Given the description of an element on the screen output the (x, y) to click on. 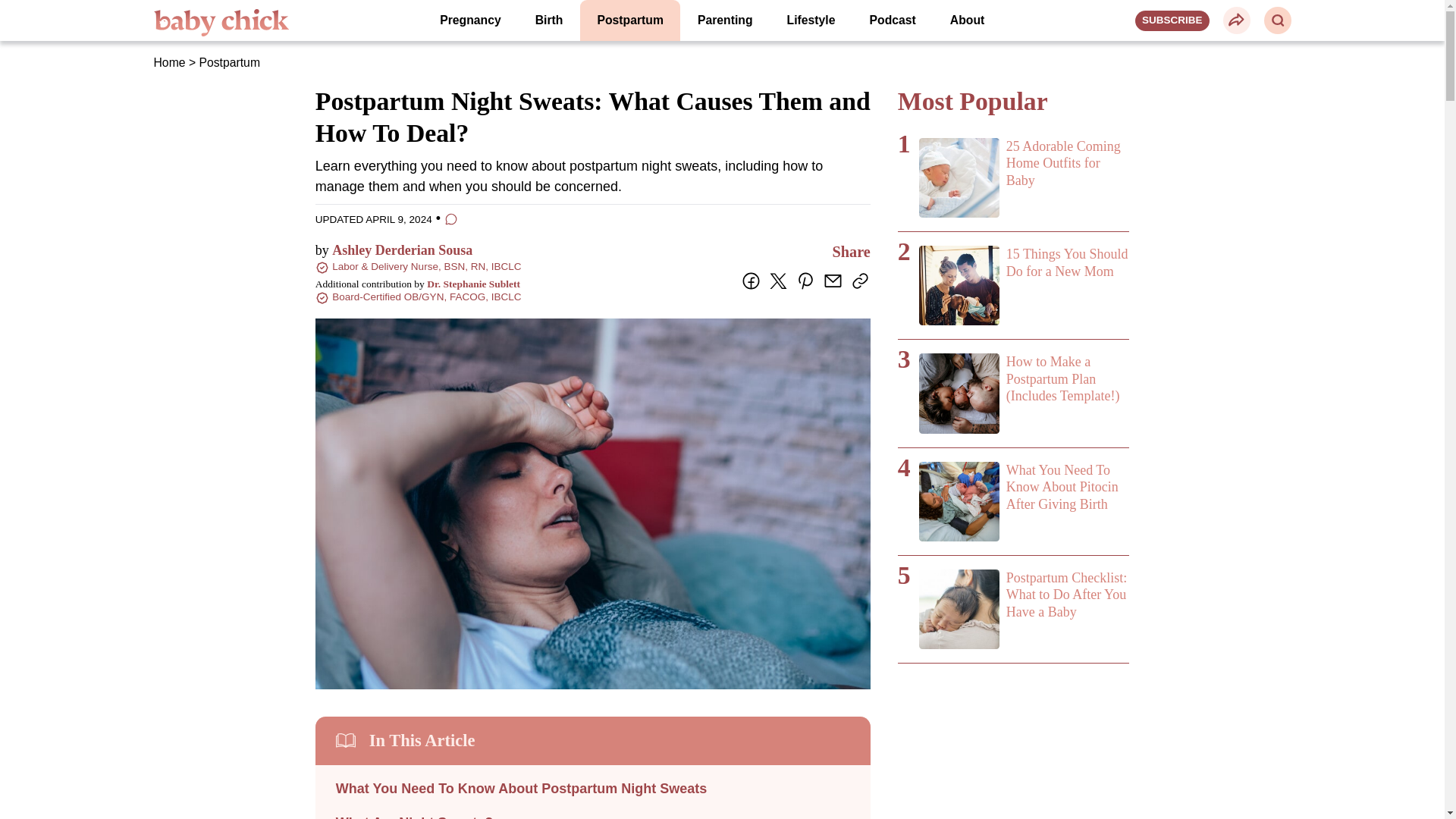
Pregnancy (470, 20)
Birth (548, 20)
